Given the description of an element on the screen output the (x, y) to click on. 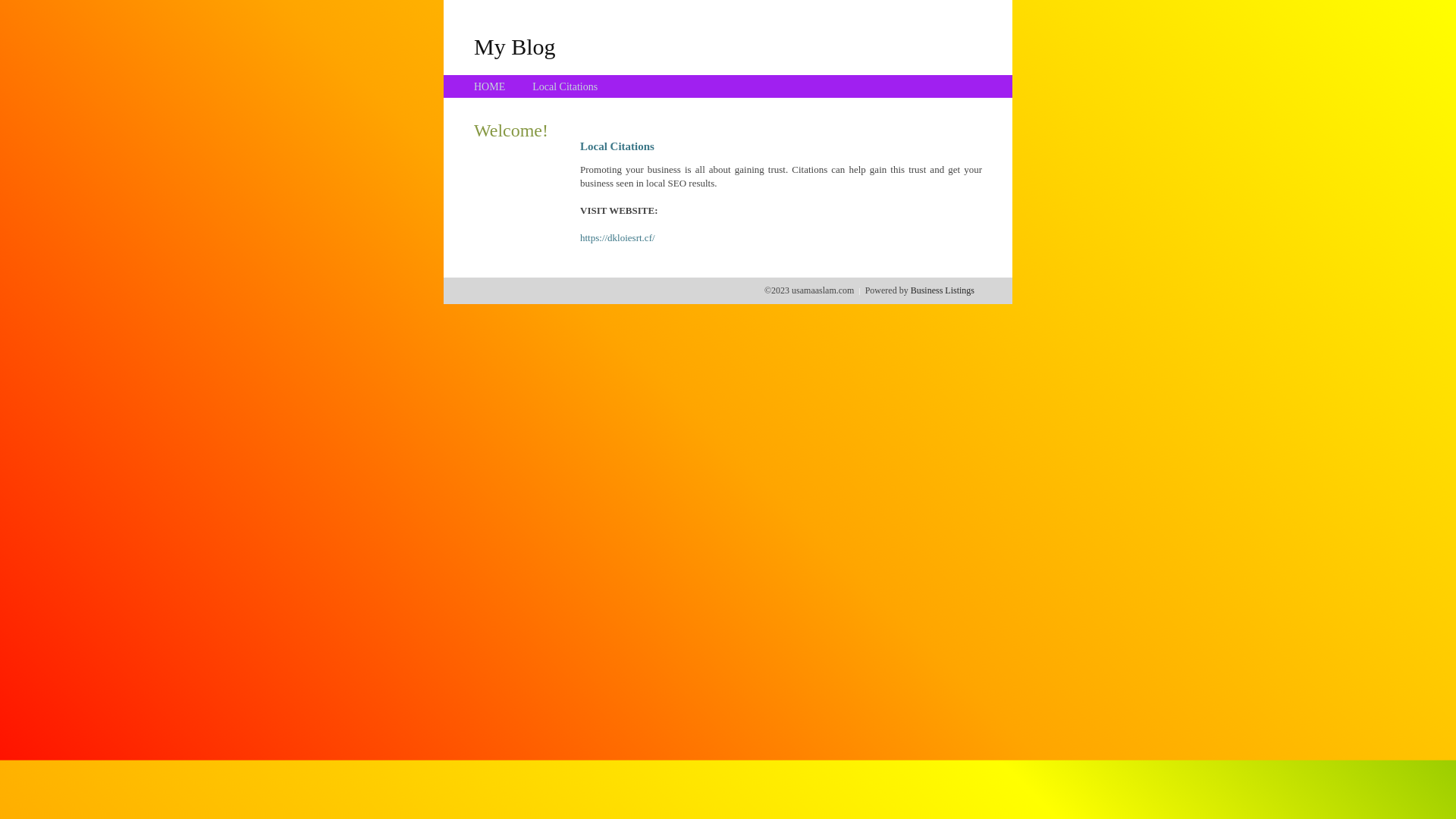
Business Listings Element type: text (942, 290)
HOME Element type: text (489, 86)
My Blog Element type: text (514, 46)
Local Citations Element type: text (564, 86)
https://dkloiesrt.cf/ Element type: text (617, 237)
